Given the description of an element on the screen output the (x, y) to click on. 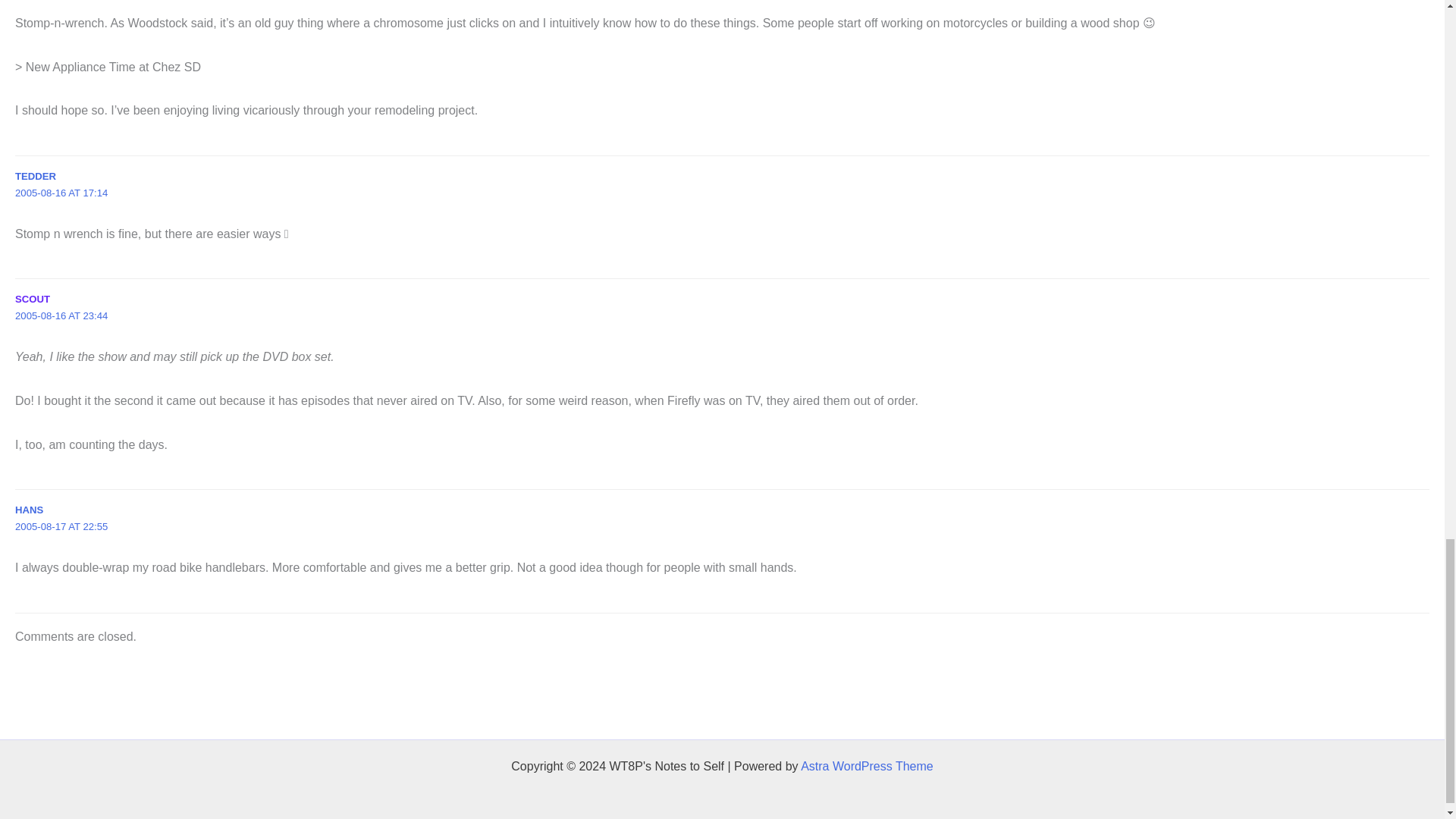
2005-08-16 AT 17:14 (60, 193)
2005-08-16 AT 23:44 (60, 315)
2005-08-17 AT 22:55 (60, 526)
HANS (28, 509)
TEDDER (35, 175)
